Given the description of an element on the screen output the (x, y) to click on. 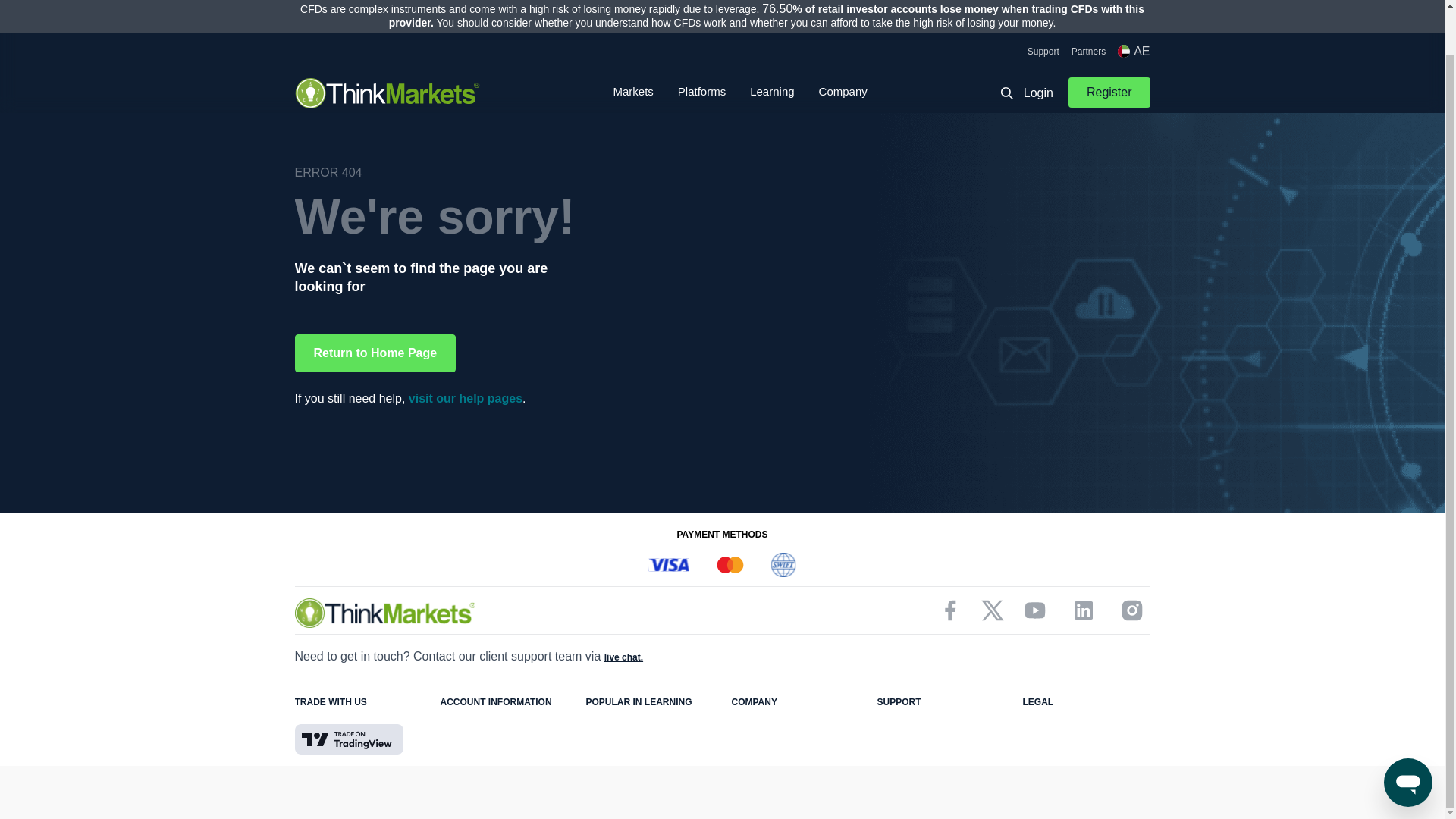
Login (1038, 45)
visit our help pages (465, 398)
live chat. (623, 656)
Partners (1088, 4)
Support (1043, 4)
Return to Home Page (374, 353)
Register (1109, 44)
